Given the description of an element on the screen output the (x, y) to click on. 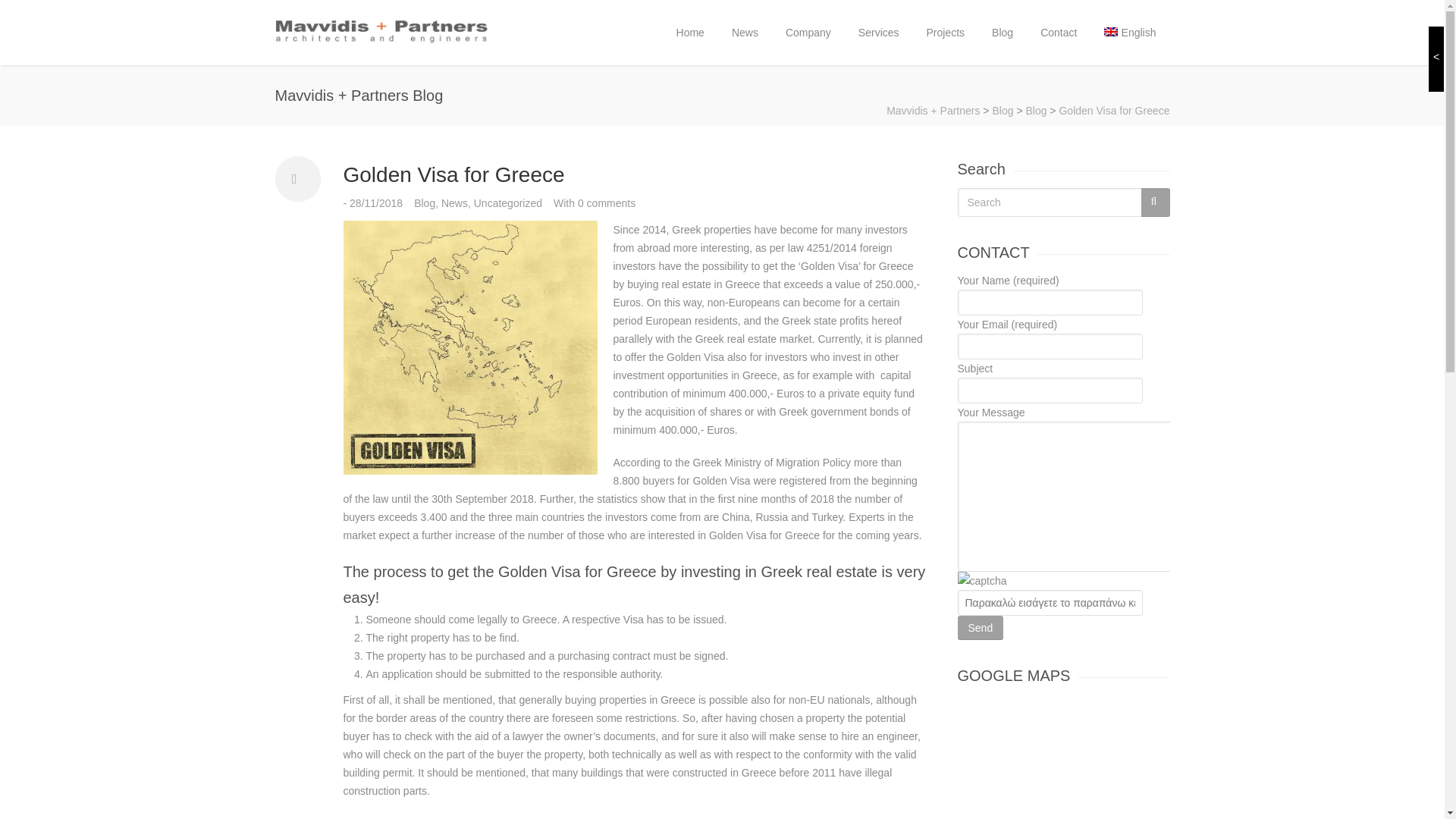
Send (979, 627)
News (454, 203)
Contact (1058, 32)
Blog (424, 203)
English (1129, 32)
English (1129, 32)
Search (1056, 202)
Services (878, 32)
Search (1056, 202)
With 0 comments (593, 203)
